Given the description of an element on the screen output the (x, y) to click on. 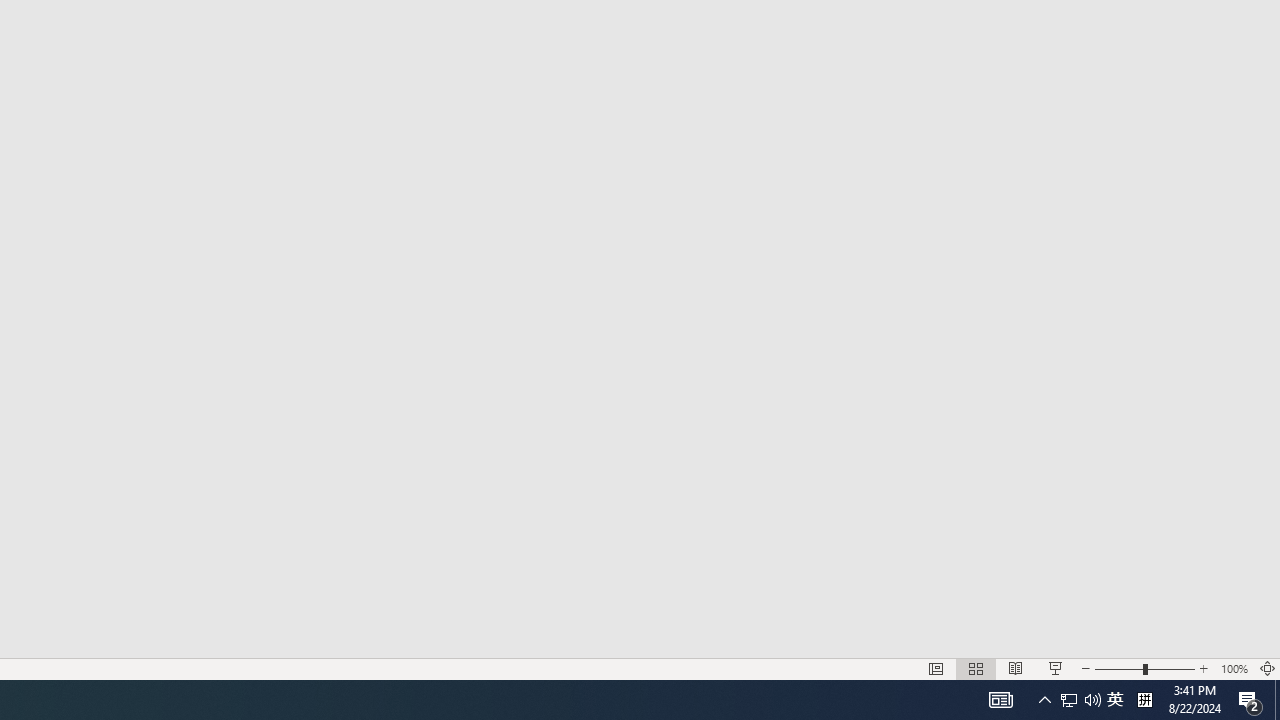
Zoom 100% (1234, 668)
